Given the description of an element on the screen output the (x, y) to click on. 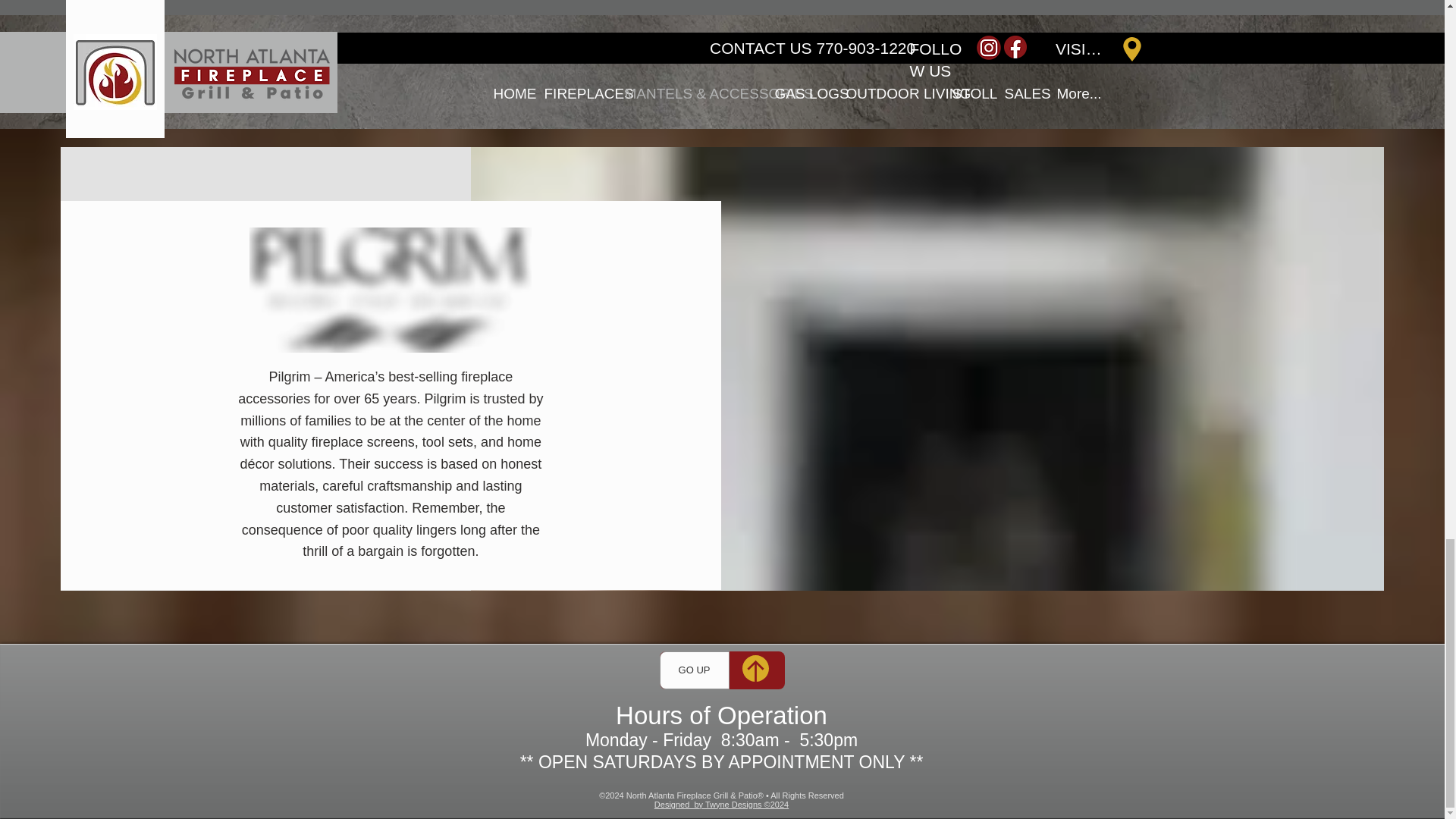
GO UP (694, 670)
